Given the description of an element on the screen output the (x, y) to click on. 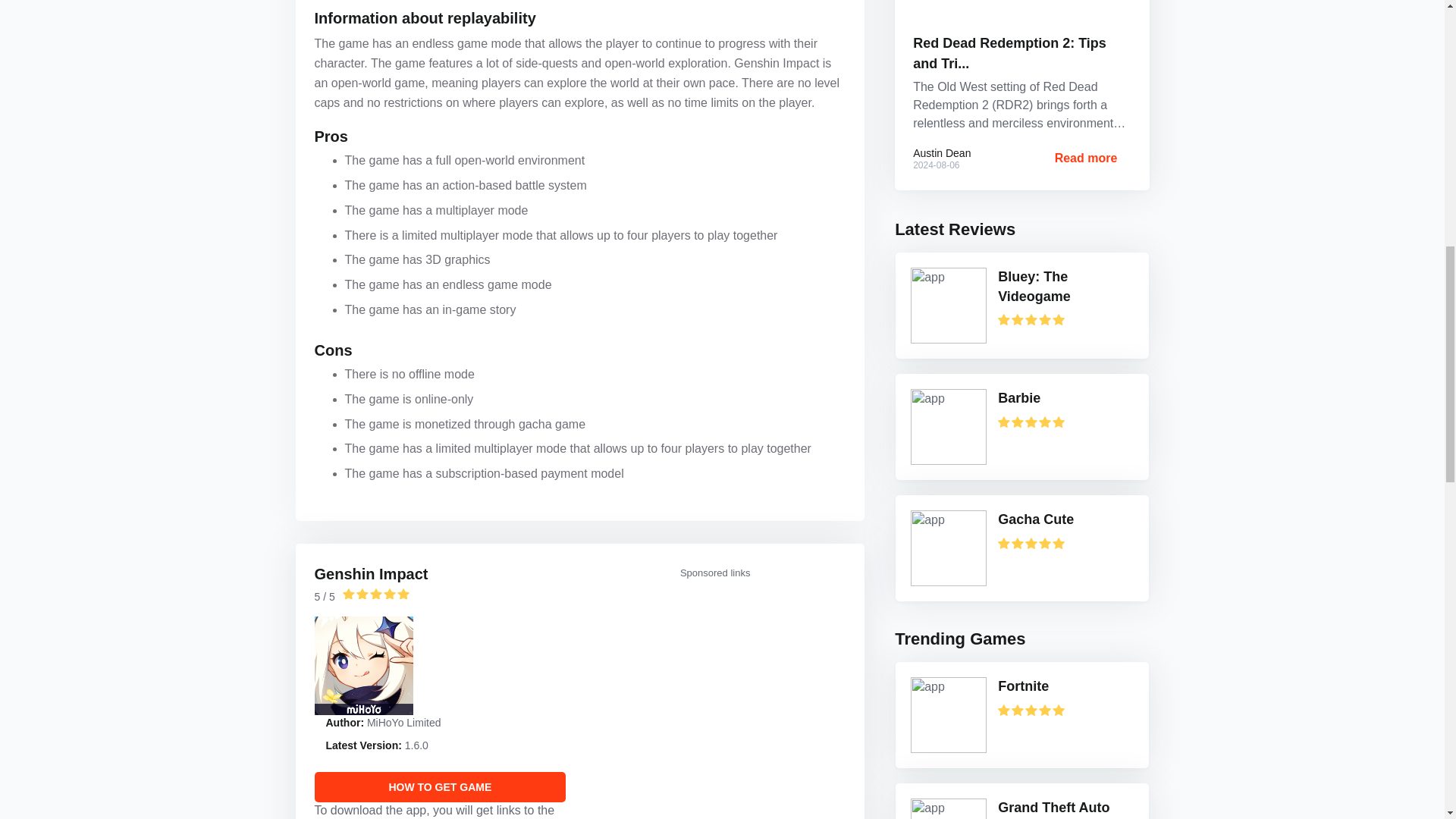
User rating five (1030, 421)
User rating 5 (375, 593)
Bluey: The Videogame (1059, 286)
app (949, 427)
User rating five (1030, 319)
app (949, 548)
Genshin Impact (371, 573)
Gacha Cute (1059, 519)
Barbie (1059, 398)
app (949, 305)
